Given the description of an element on the screen output the (x, y) to click on. 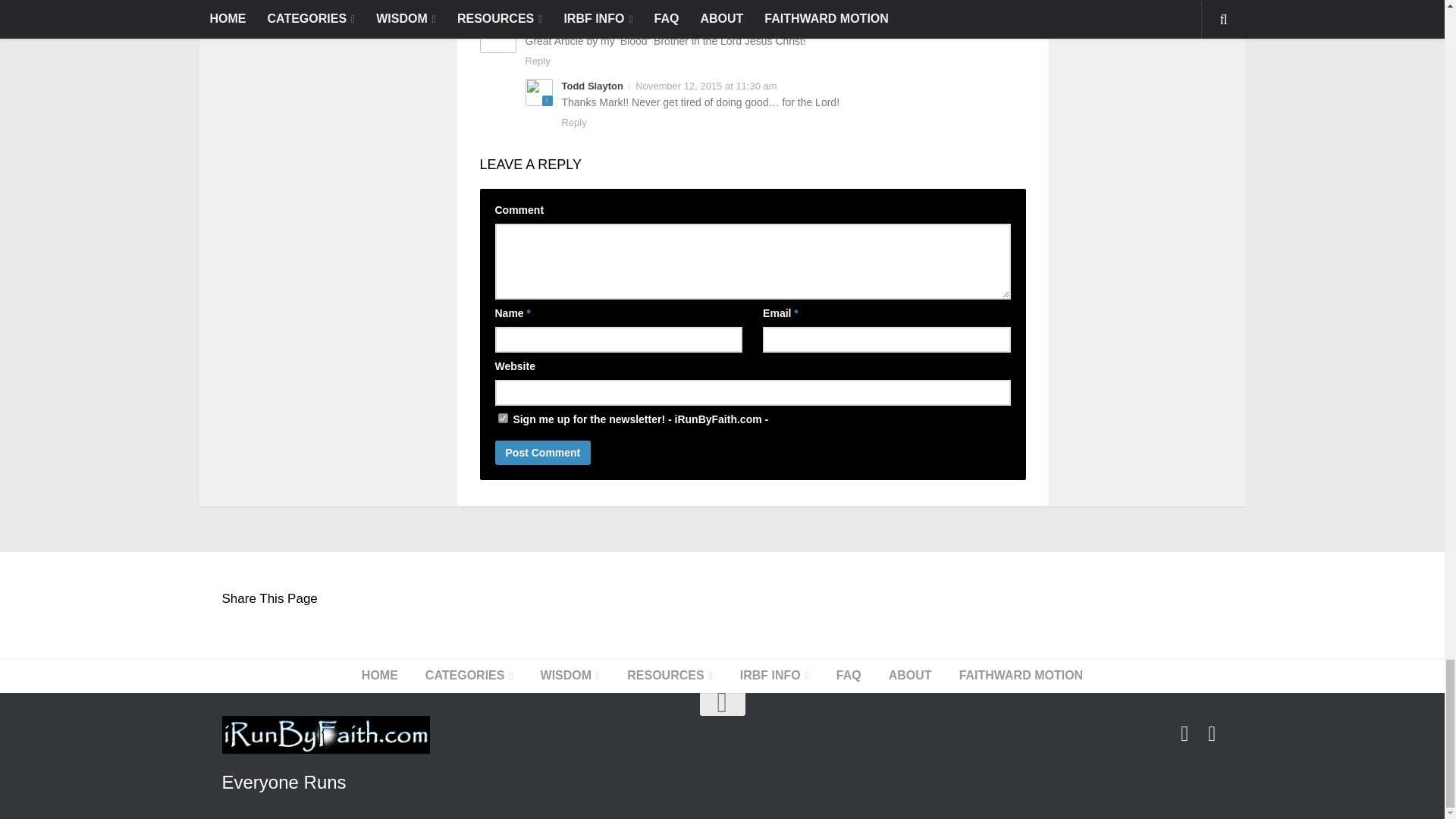
Post Comment (543, 452)
1 (501, 418)
